Given the description of an element on the screen output the (x, y) to click on. 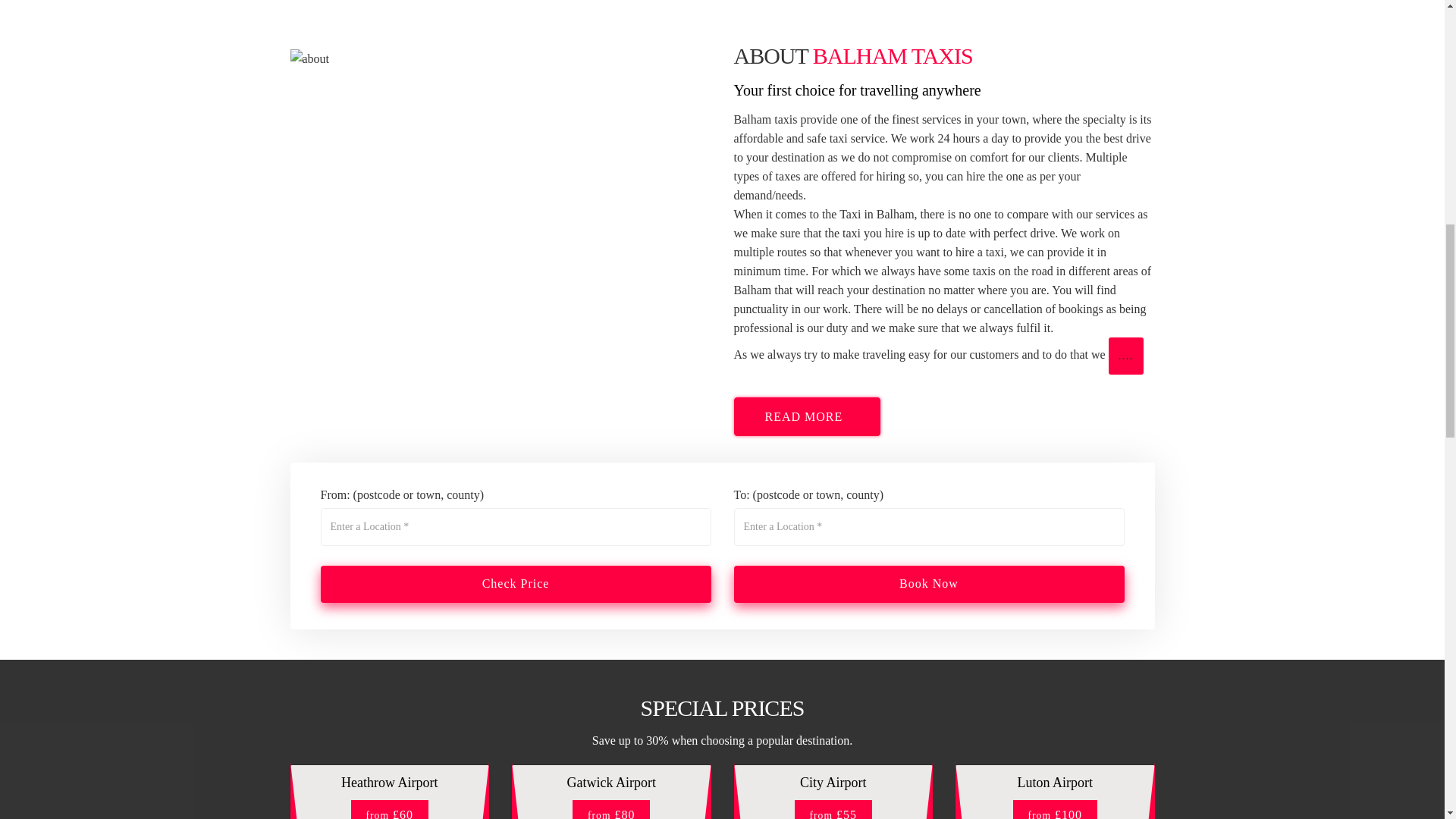
Check Price (515, 583)
.... (1125, 355)
Book Now (928, 583)
READ MOREABOUT (806, 416)
